Given the description of an element on the screen output the (x, y) to click on. 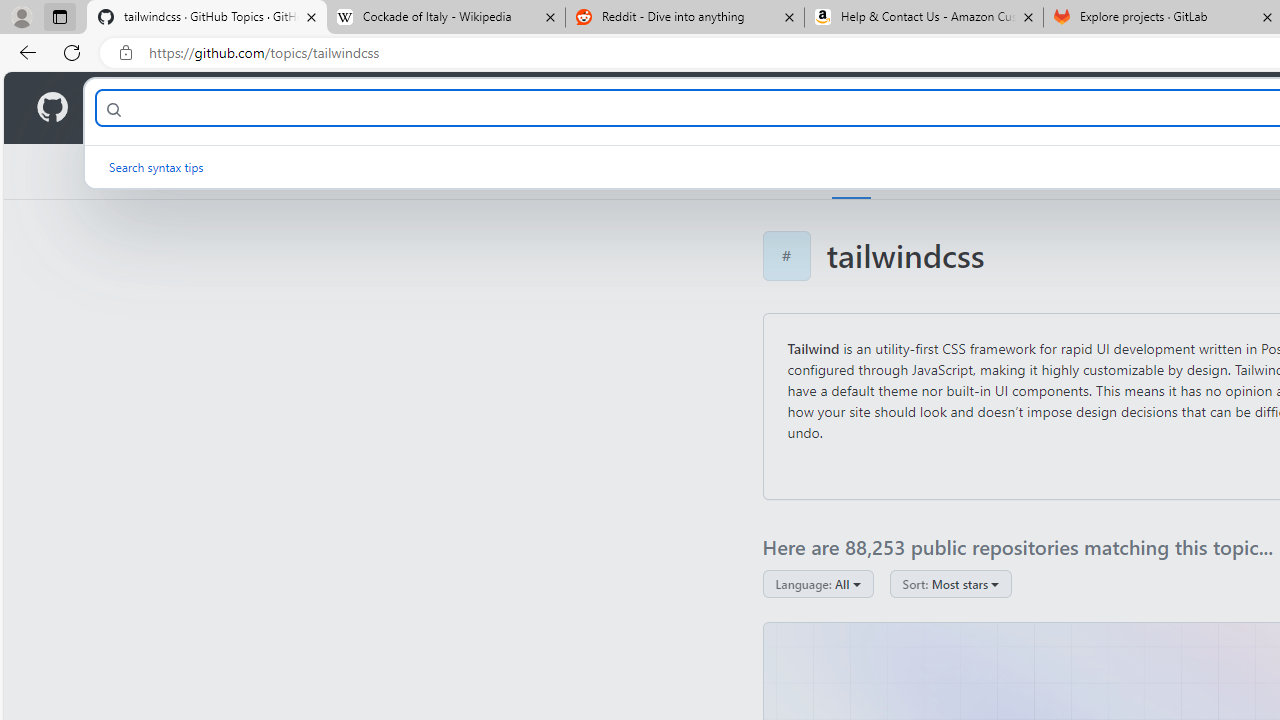
Pricing (649, 107)
Cockade of Italy - Wikipedia (445, 17)
Language: All (817, 584)
Events (1084, 171)
Open Source (446, 107)
Resources (330, 107)
Enterprise (563, 107)
Product (130, 107)
Sort: Most stars (950, 584)
Pricing (649, 107)
